Given the description of an element on the screen output the (x, y) to click on. 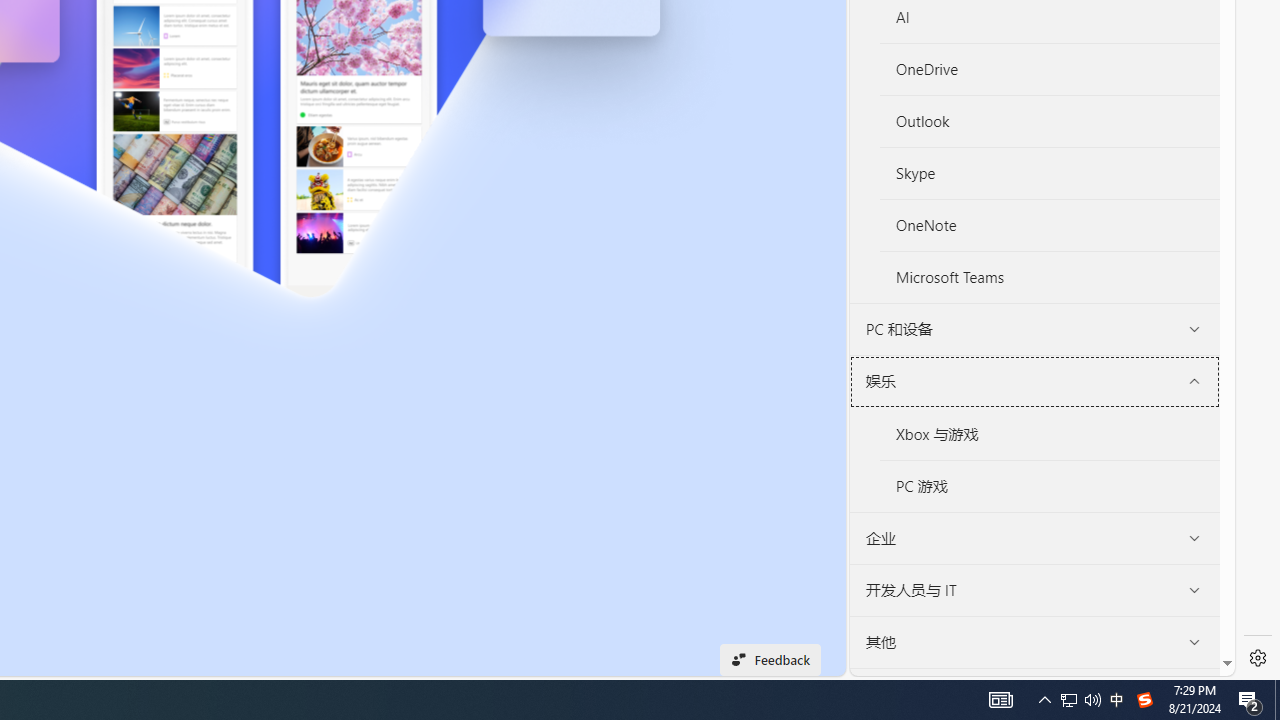
Feedback (769, 659)
Outlook (1049, 122)
